Given the description of an element on the screen output the (x, y) to click on. 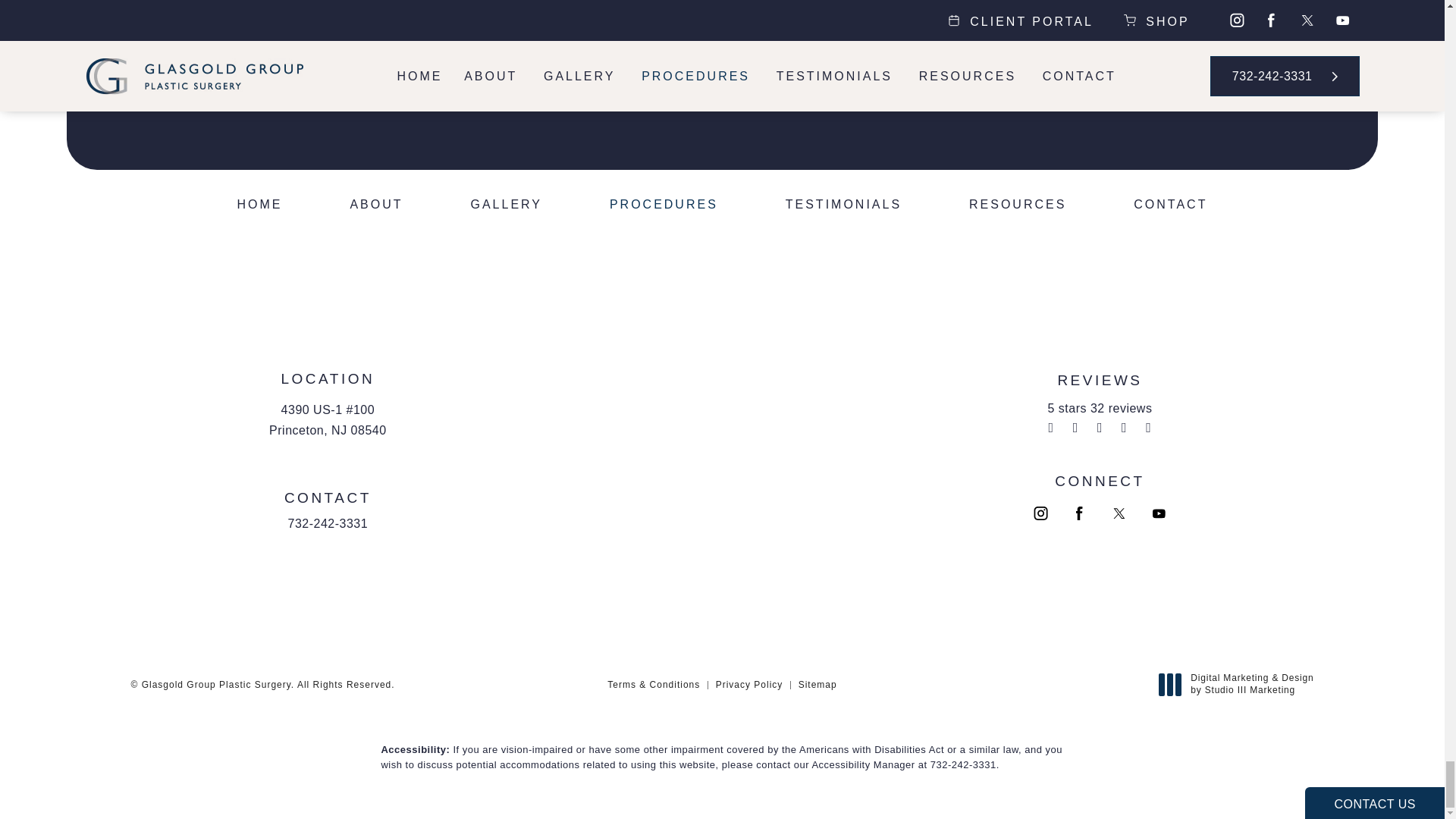
Glasgold Group Plastic Surgery on Youtube (1161, 515)
Glasgold Group Plastic Surgery on Twitter (1122, 515)
Glasgold Group Plastic Surgery on Instagram (1042, 515)
Glasgold Group Plastic Surgery on Facebook (1081, 515)
